Given the description of an element on the screen output the (x, y) to click on. 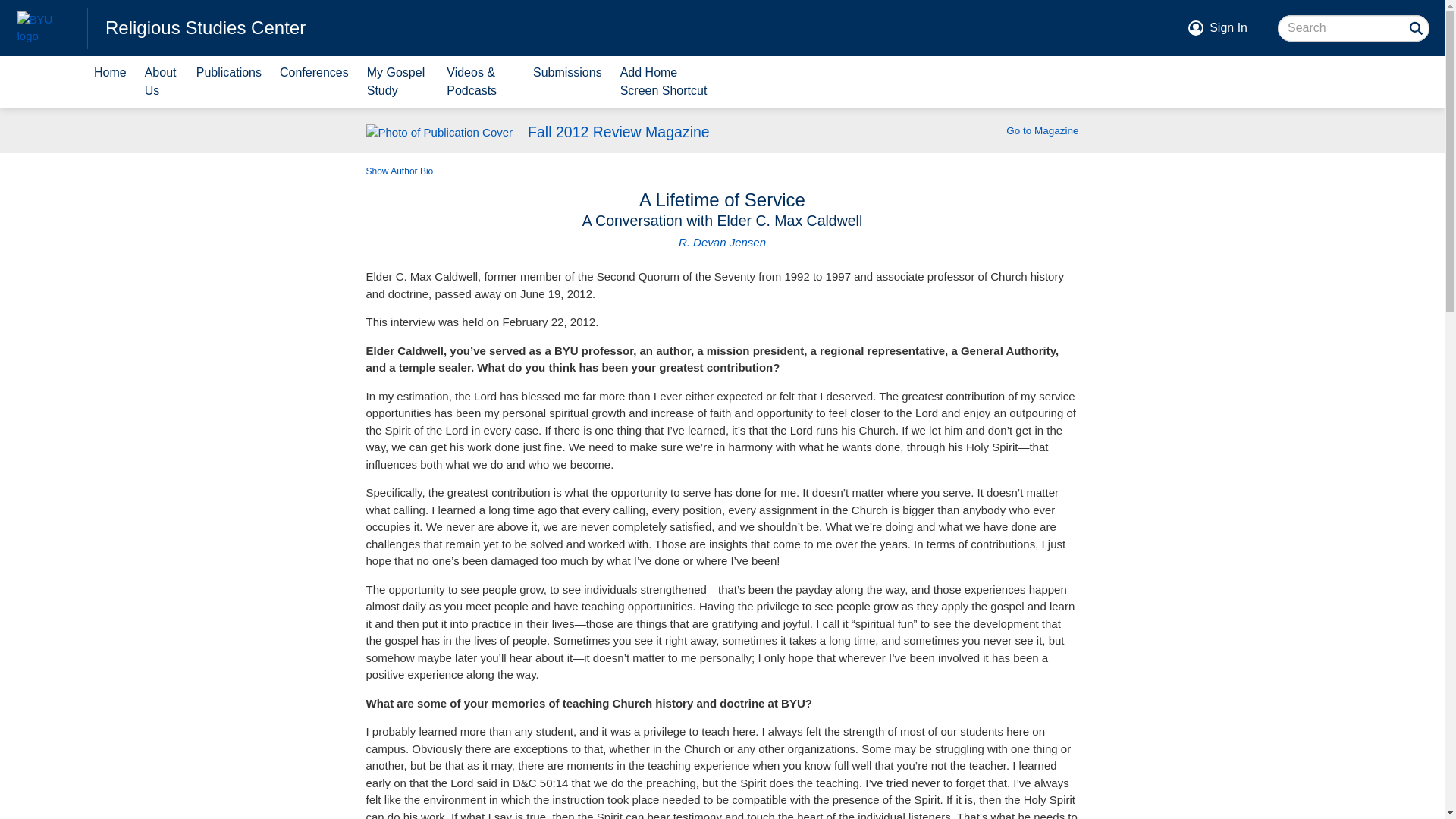
My Gospel Study (398, 81)
Show Author Bio (398, 171)
Home (109, 81)
Conferences (314, 81)
Submissions (567, 81)
Go to Magazine (1042, 130)
R. Devan Jensen (721, 241)
About Us (161, 81)
Fall 2012 Review Magazine (618, 131)
